Given the description of an element on the screen output the (x, y) to click on. 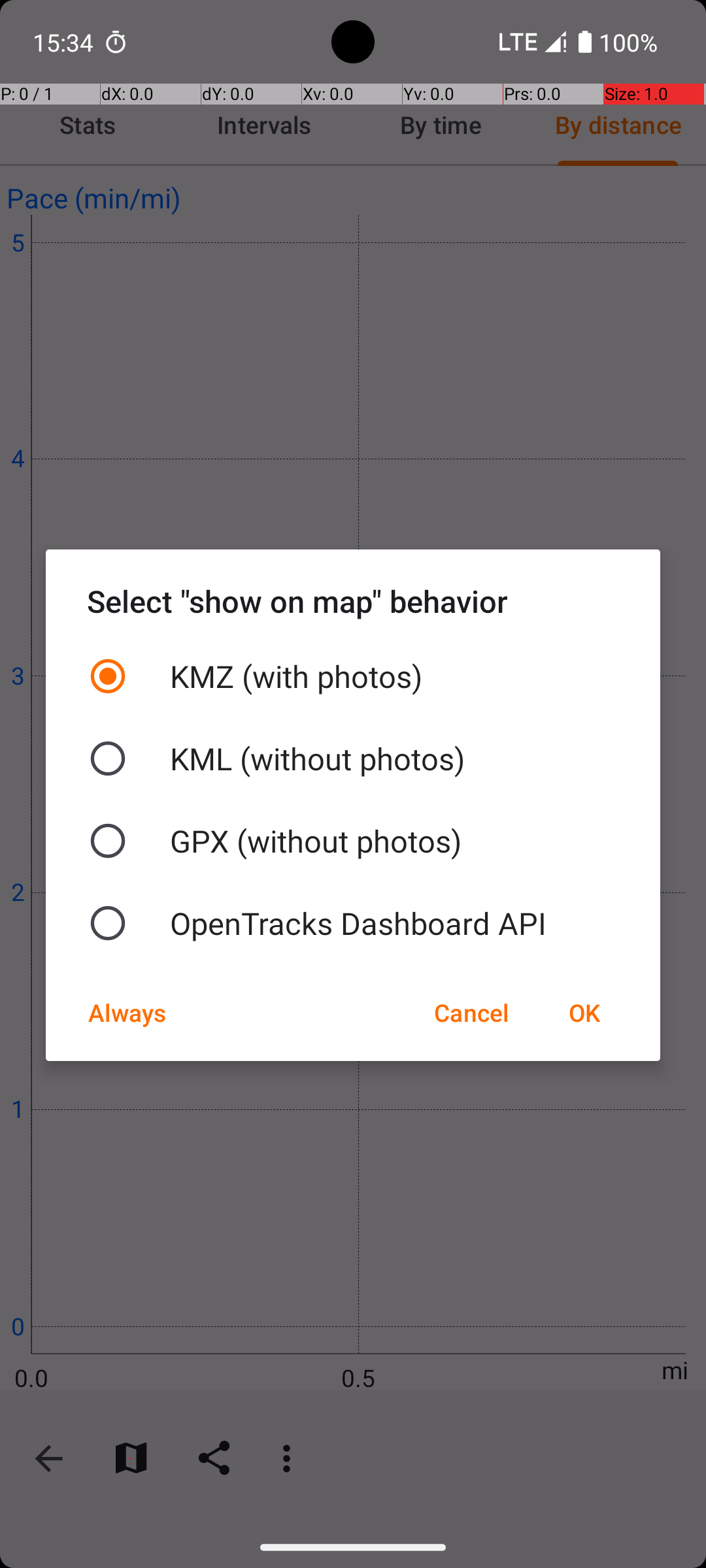
Select "show on map" behavior Element type: android.widget.TextView (352, 600)
KMZ (with photos) Element type: android.widget.CheckedTextView (352, 676)
KML (without photos) Element type: android.widget.CheckedTextView (352, 758)
GPX (without photos) Element type: android.widget.CheckedTextView (352, 840)
OpenTracks Dashboard API Element type: android.widget.CheckedTextView (352, 923)
